Given the description of an element on the screen output the (x, y) to click on. 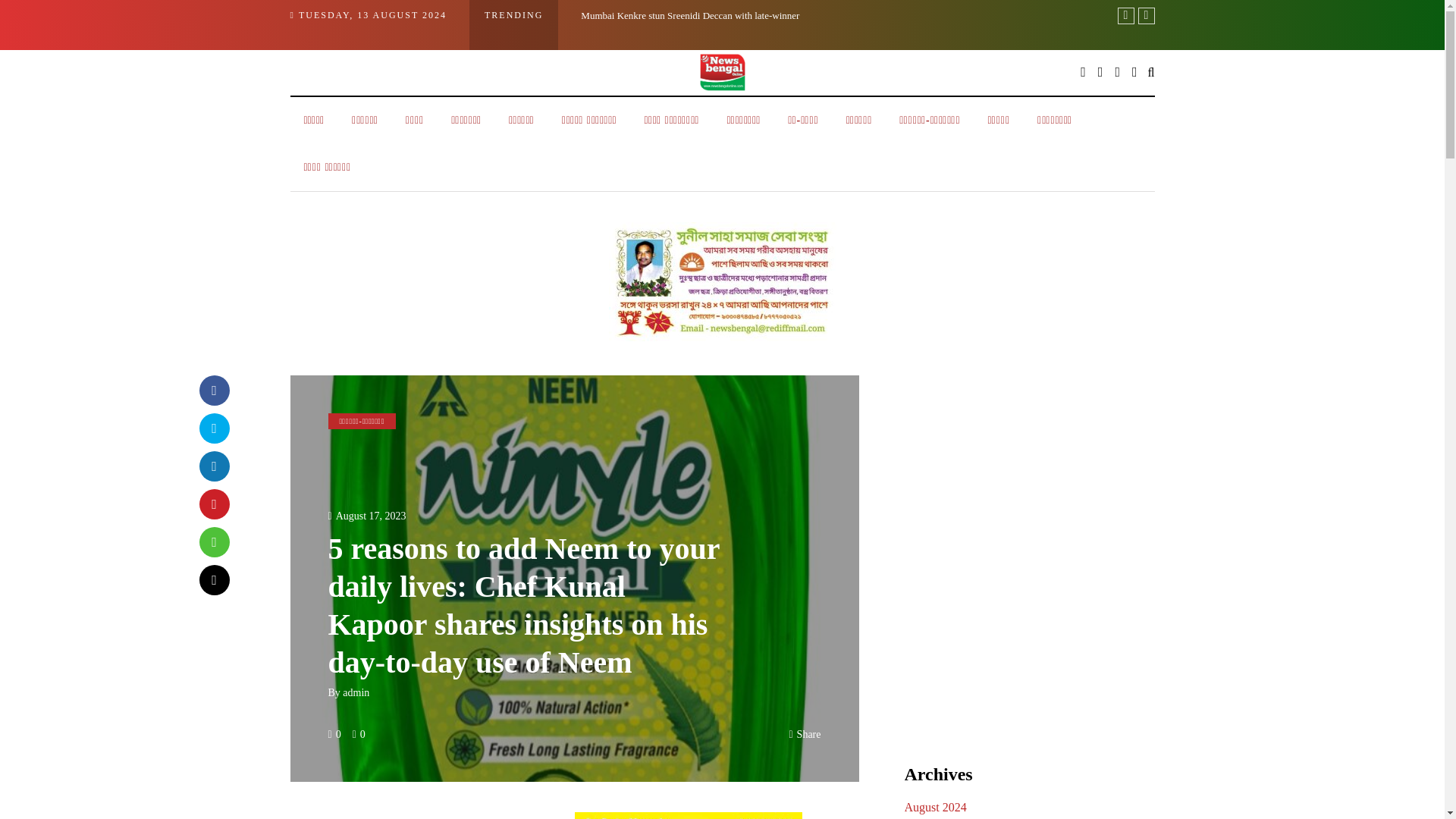
Share with LinkedIn (213, 465)
Share to WhatsApp (213, 541)
Mumbai Kenkre stun Sreenidi Deccan with late-winner (689, 15)
Pin this (213, 503)
Share with Facebook (213, 389)
Posts by admin (355, 692)
Tweet this (213, 427)
Share to Telegram (213, 579)
